Given the description of an element on the screen output the (x, y) to click on. 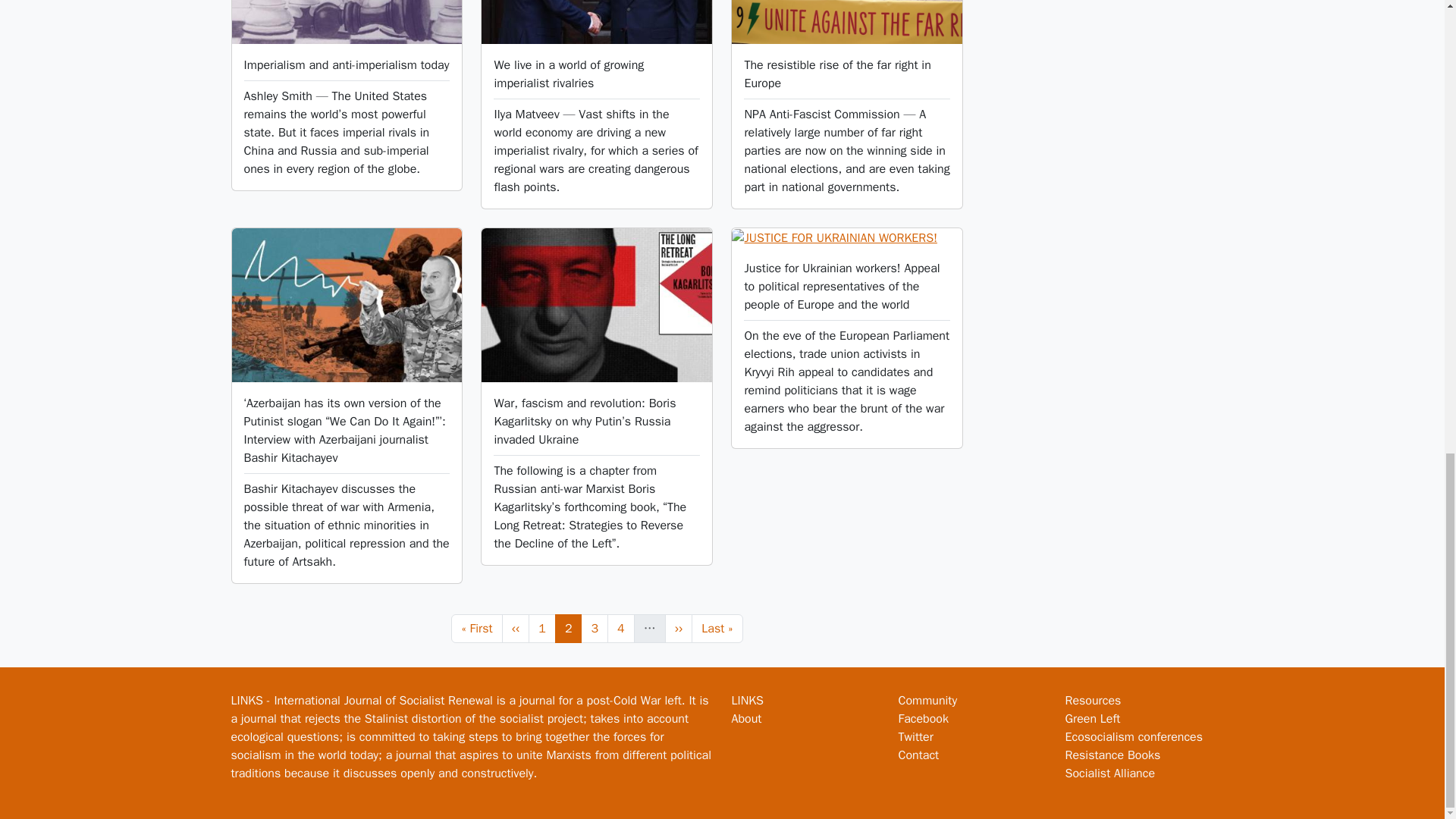
Current page (568, 628)
Go to last page (716, 628)
We live in a world of growing imperialist rivalries (568, 73)
Go to page 3 (594, 628)
Go to first page (594, 628)
Go to page 1 (476, 628)
Go to next page (542, 628)
The resistible rise of the far right in Europe (679, 628)
